Given the description of an element on the screen output the (x, y) to click on. 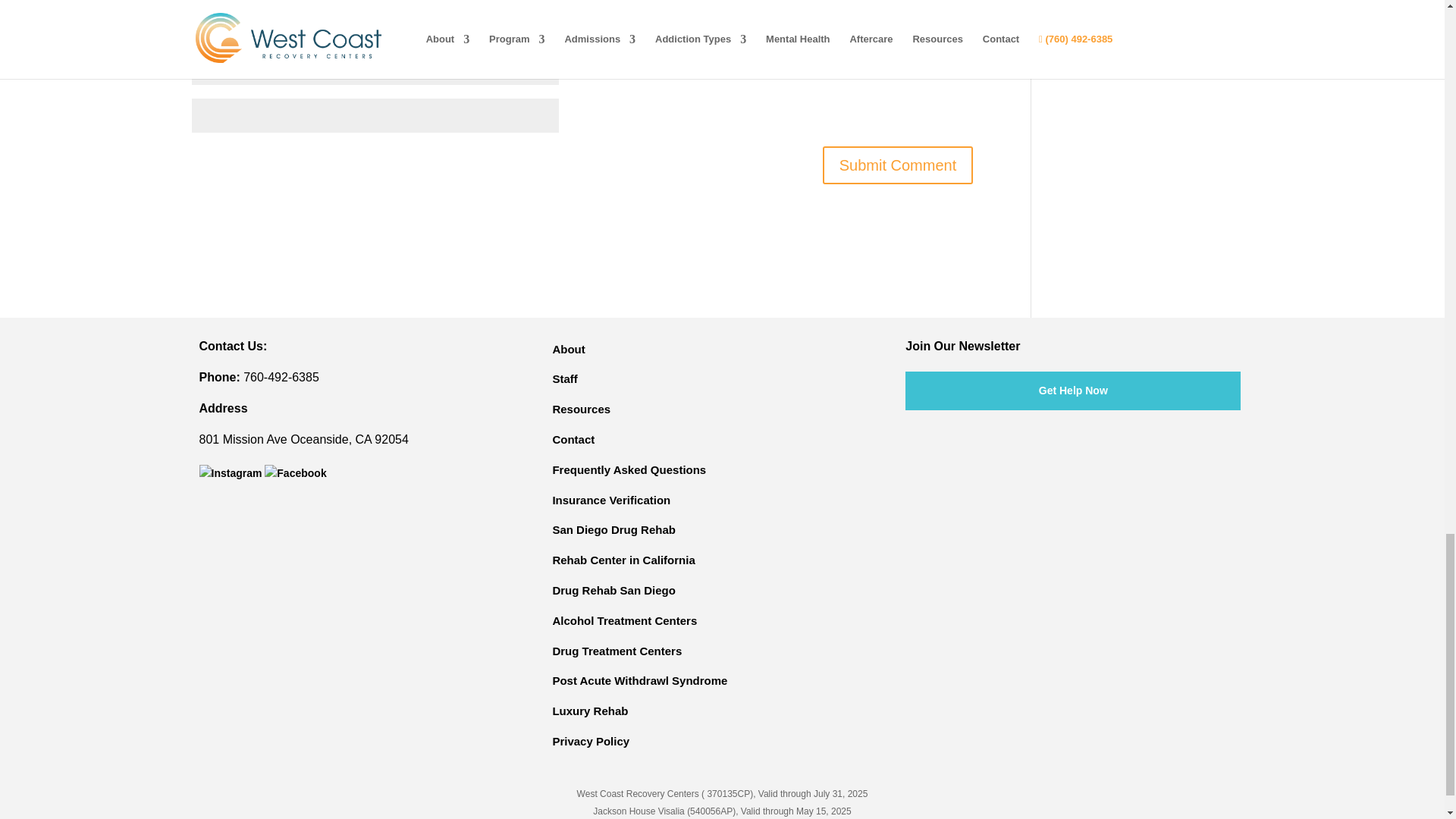
Submit Comment (898, 165)
